Given the description of an element on the screen output the (x, y) to click on. 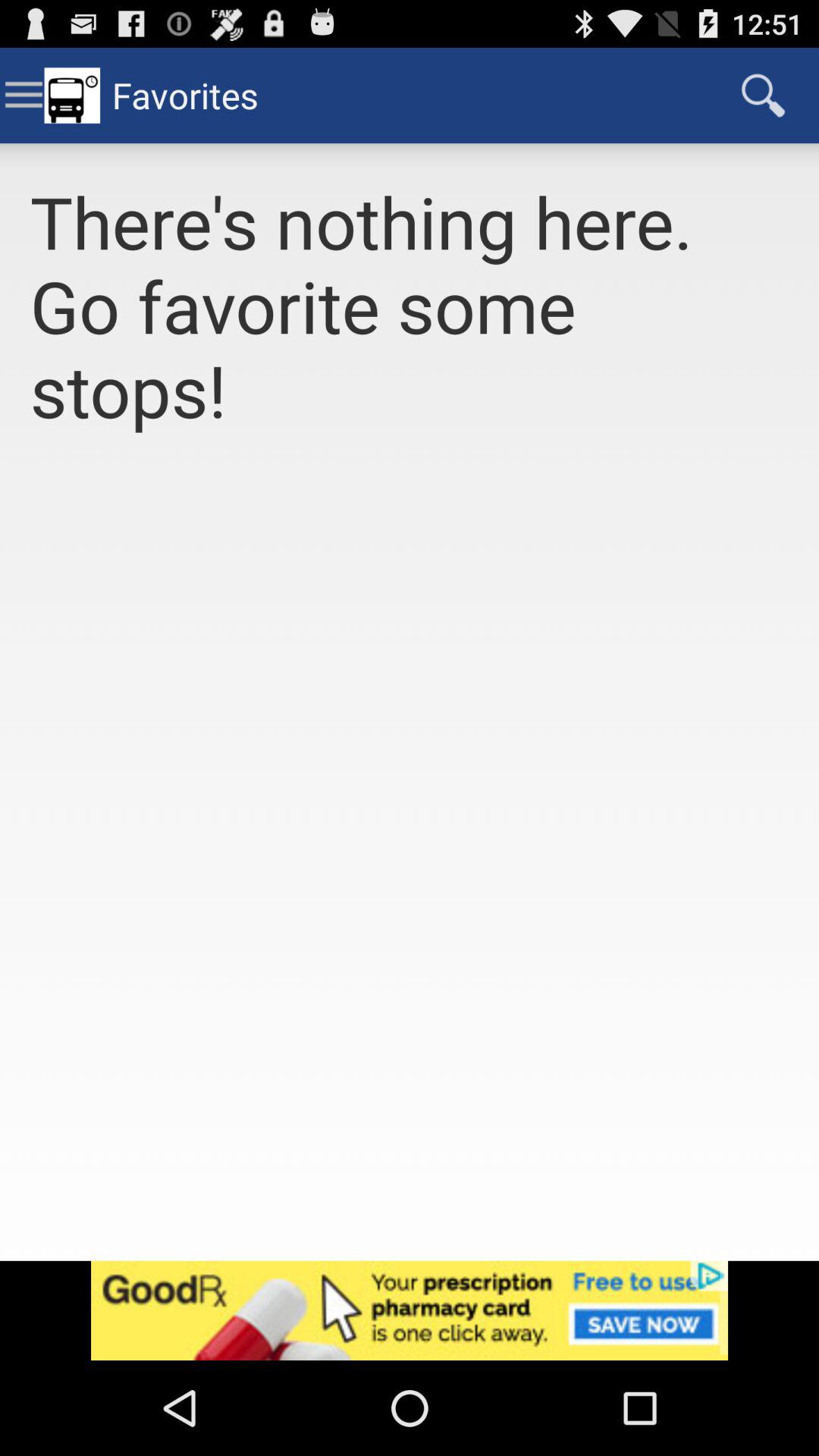
emty page (409, 864)
